Given the description of an element on the screen output the (x, y) to click on. 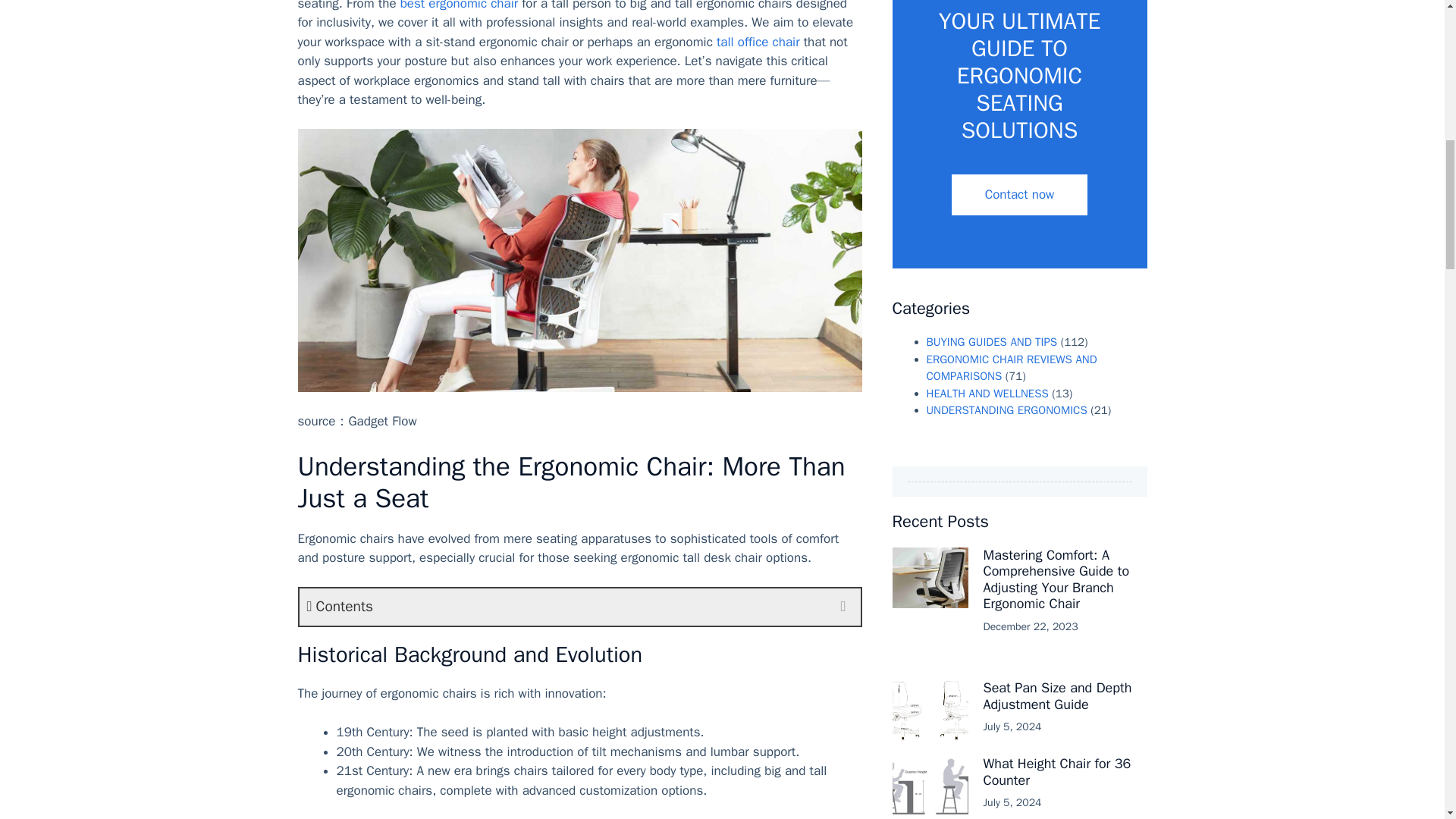
tall office chair (757, 41)
best ergonomic chair (459, 5)
Contact now (1019, 194)
BUYING GUIDES AND TIPS (992, 341)
best ergonomic chair (459, 5)
tall office chair (757, 41)
